Given the description of an element on the screen output the (x, y) to click on. 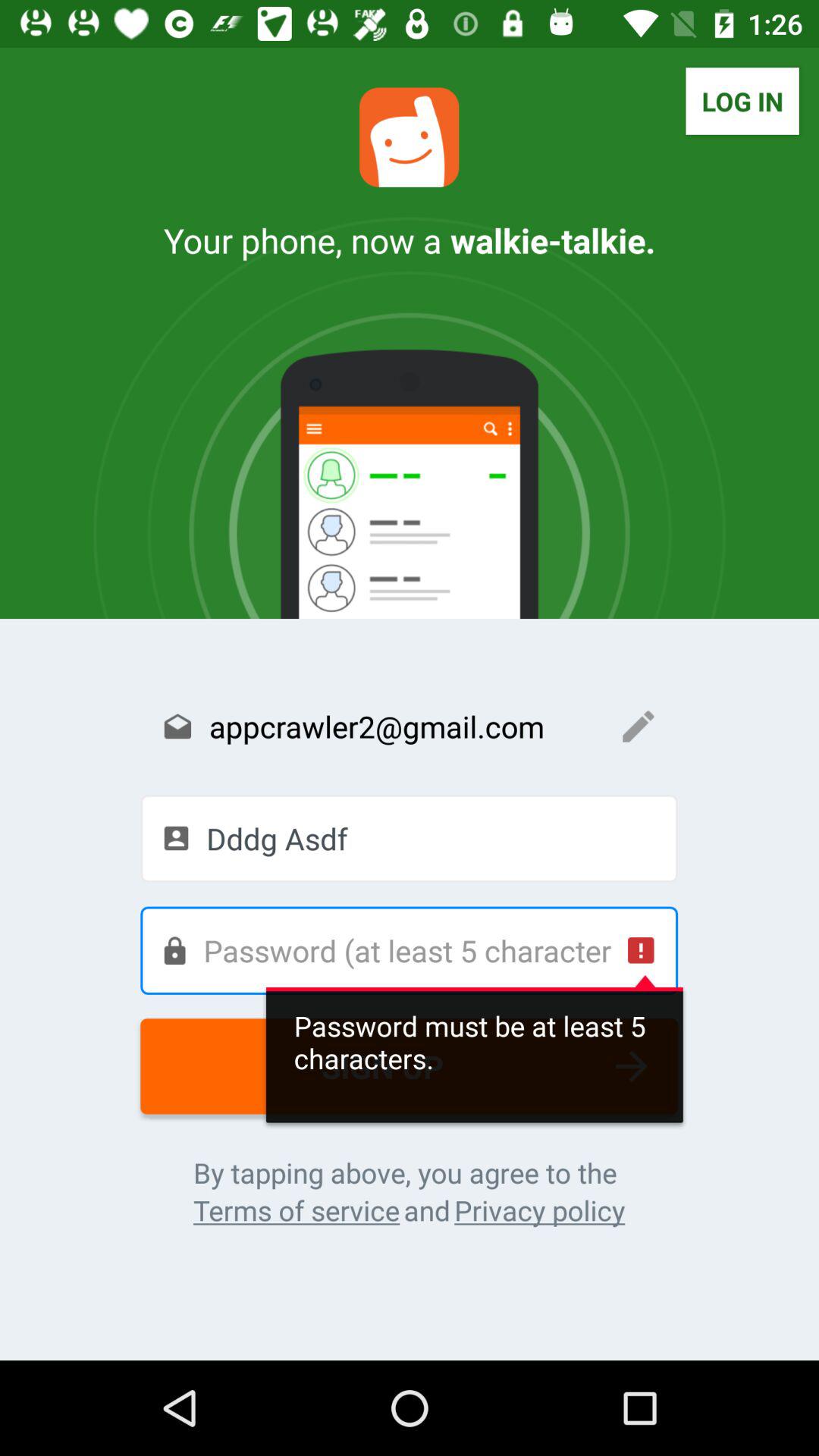
choose the item below by tapping above icon (296, 1210)
